Given the description of an element on the screen output the (x, y) to click on. 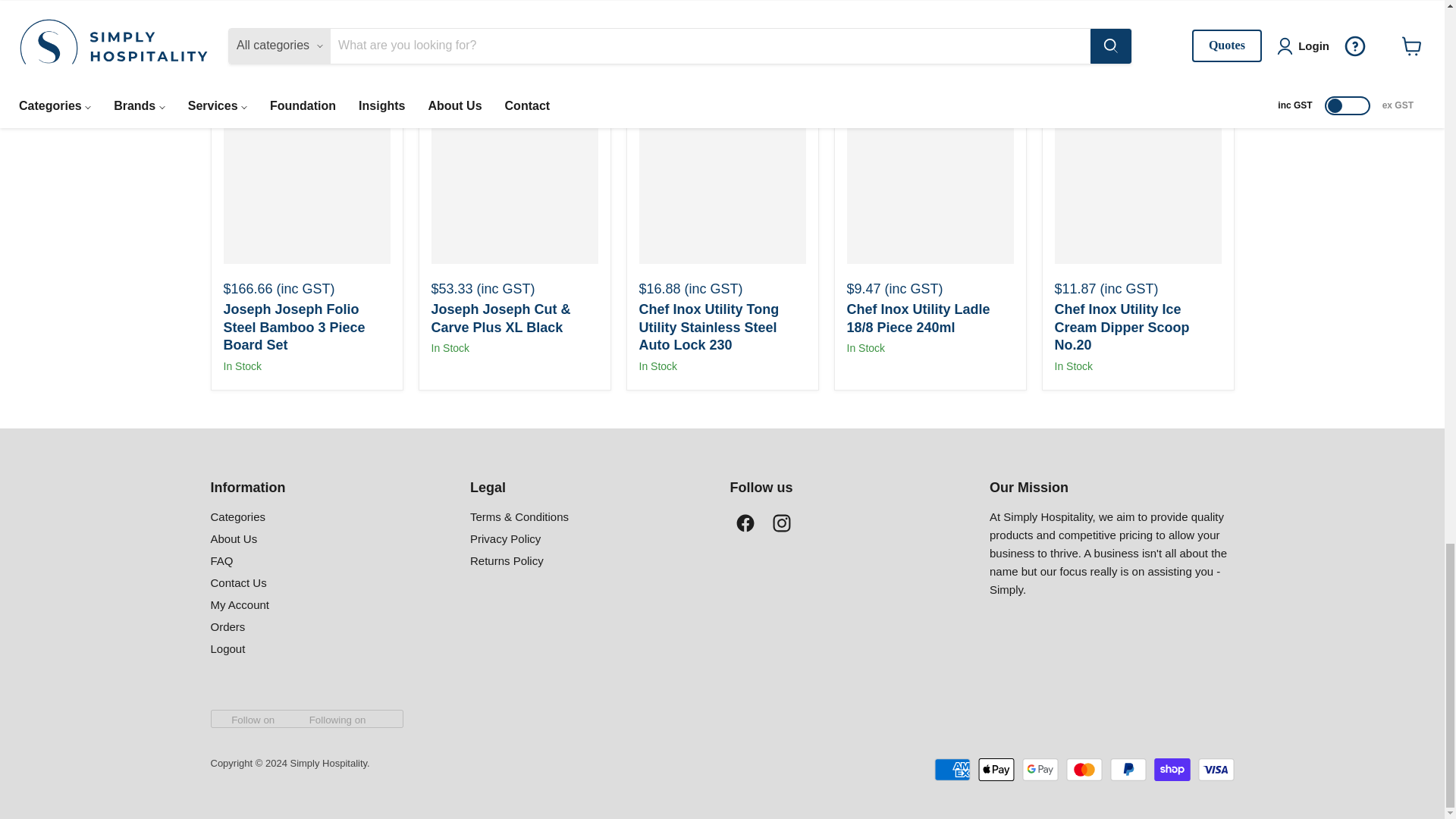
Apple Pay (996, 769)
Instagram (780, 522)
Facebook (744, 522)
American Express (952, 769)
